Given the description of an element on the screen output the (x, y) to click on. 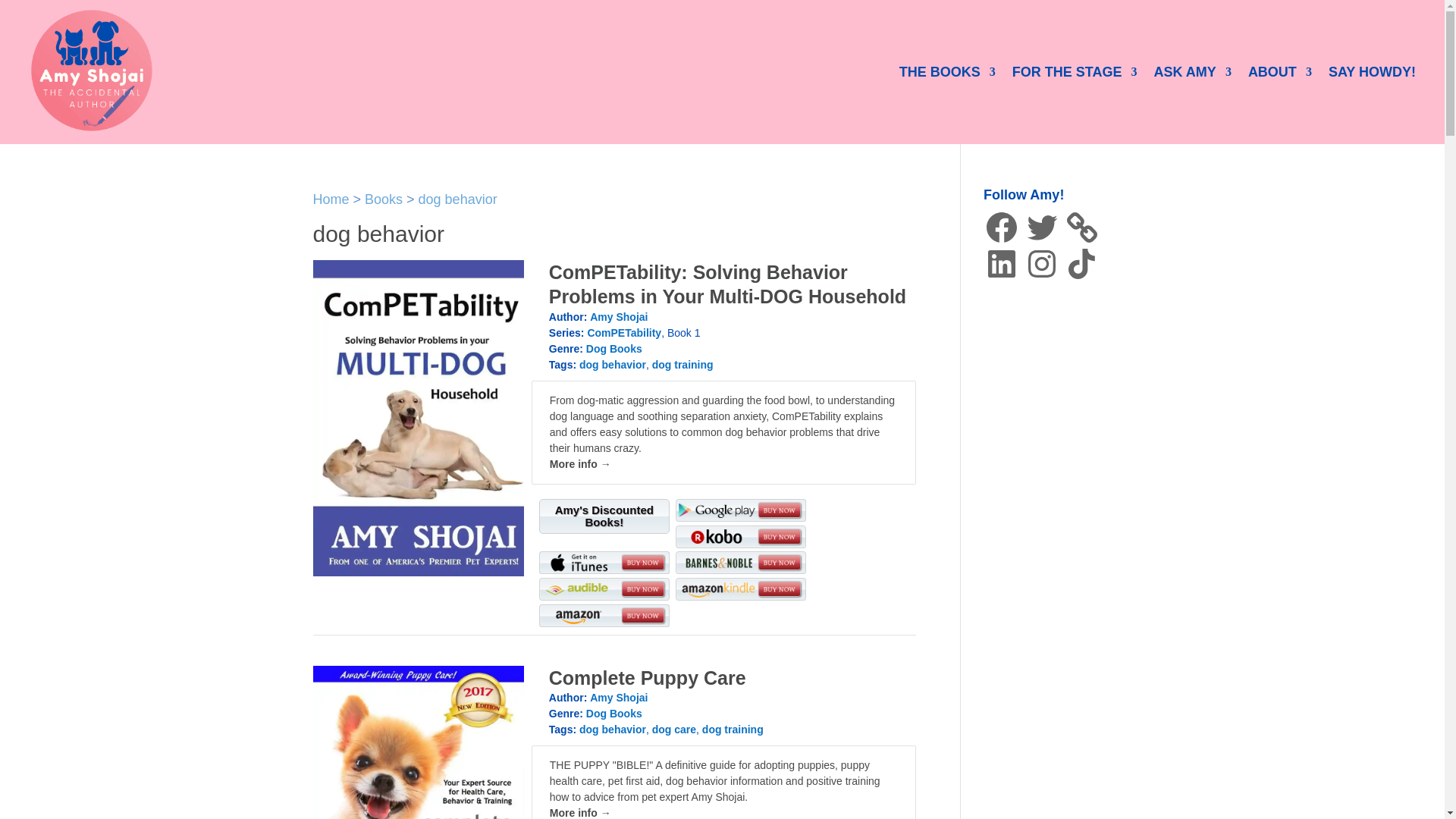
Books (384, 199)
ComPETability (623, 332)
dog behavior (458, 199)
Home (331, 199)
FOR THE STAGE (1074, 71)
Amy Shojai (618, 316)
